Given the description of an element on the screen output the (x, y) to click on. 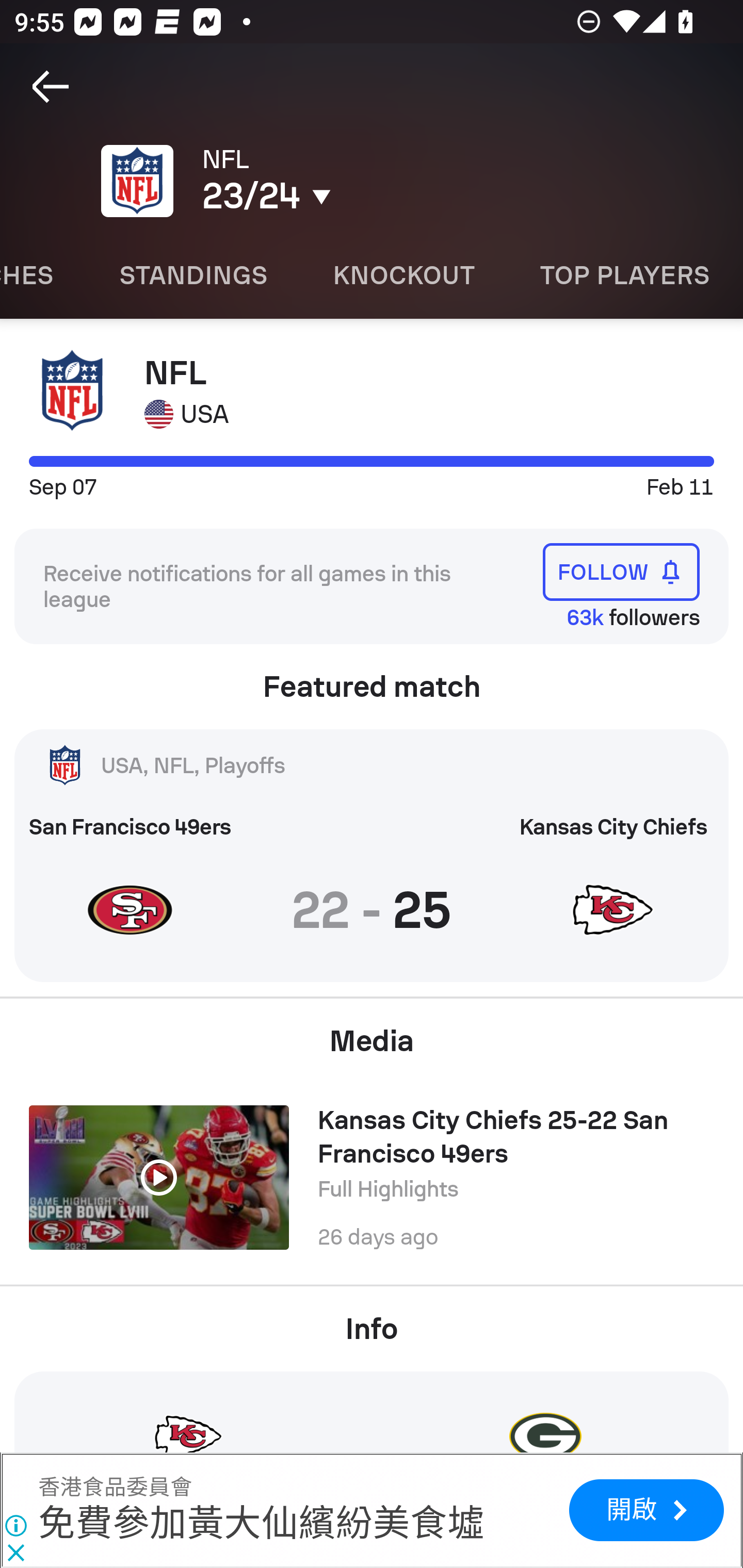
Navigate up (50, 86)
23/24 (350, 195)
Standings STANDINGS (192, 275)
Knockout KNOCKOUT (403, 275)
Top players TOP PLAYERS (625, 275)
FOLLOW (621, 571)
香港食品委員會 (114, 1486)
開啟 (645, 1509)
免費參加黃大仙繽紛美食墟 (260, 1523)
